Given the description of an element on the screen output the (x, y) to click on. 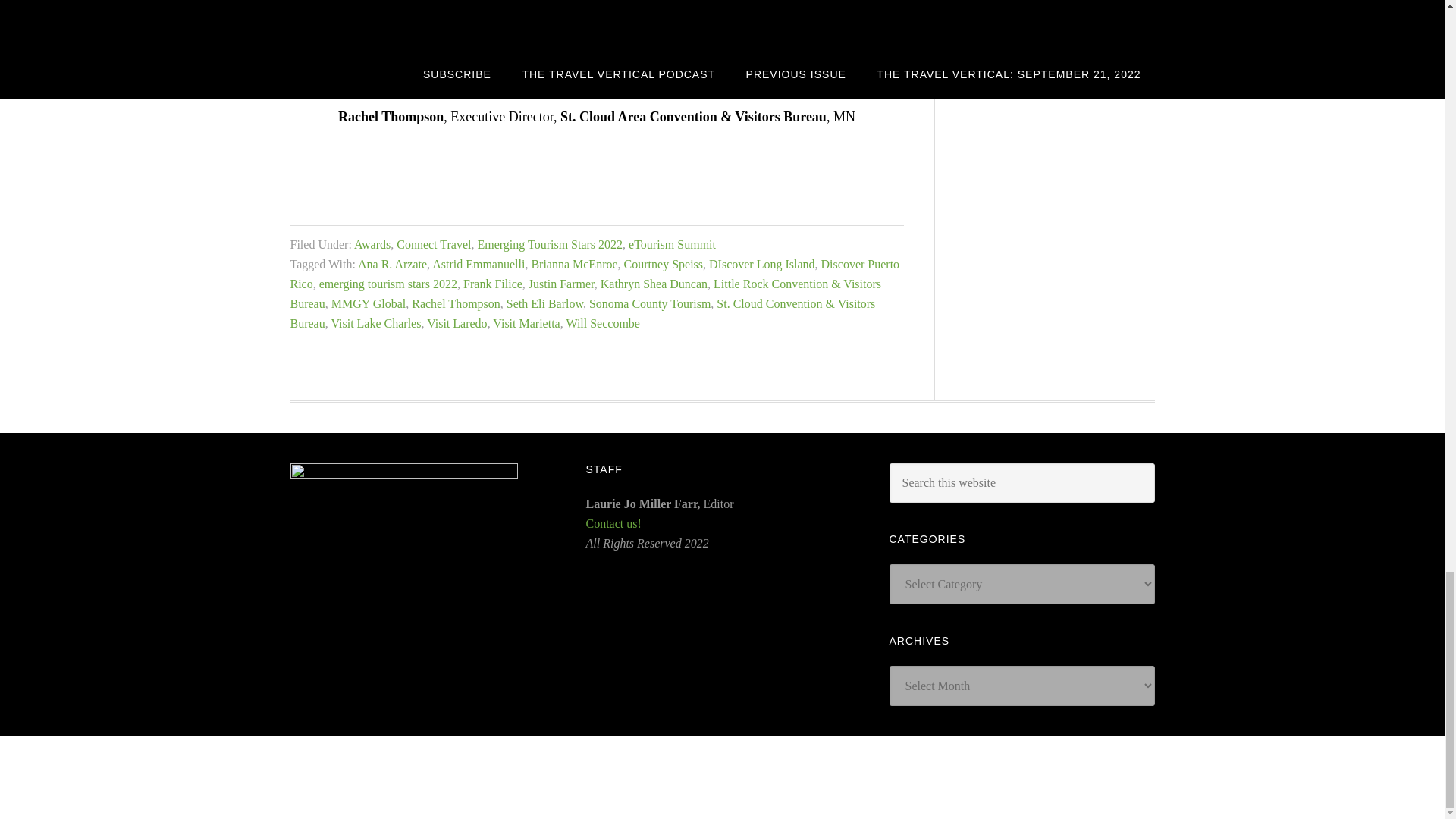
Justin Farmer (561, 283)
emerging tourism stars 2022 (387, 283)
Courtney Speiss (663, 264)
Astrid Emmanuelli (478, 264)
Visit Lake Charles (375, 323)
Visit Laredo (456, 323)
Connect Travel (433, 244)
eTourism Summit (672, 244)
